Given the description of an element on the screen output the (x, y) to click on. 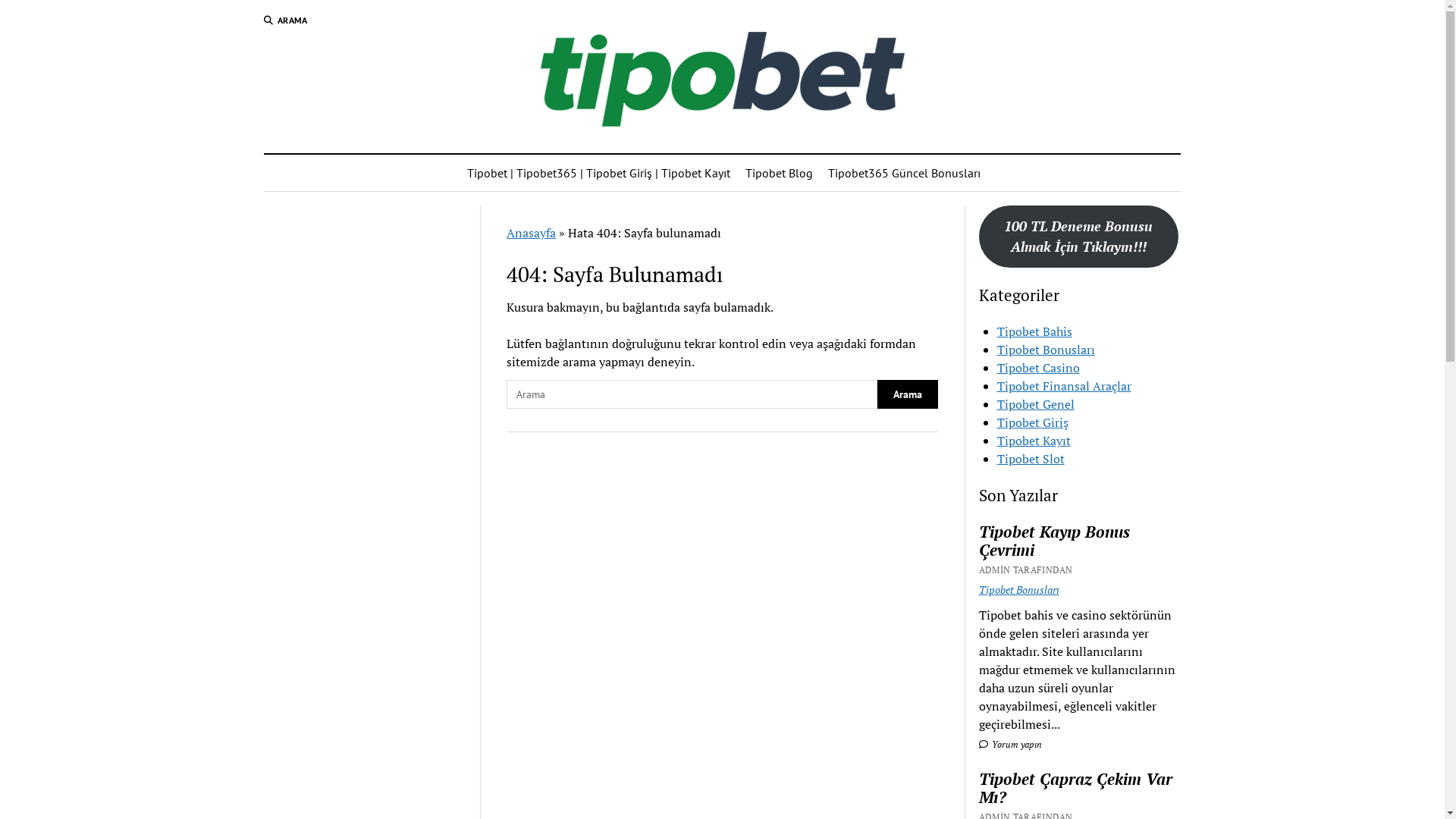
Arama Element type: text (947, 129)
ARAMA Element type: text (285, 20)
Arama Element type: text (907, 393)
Tipobet Bahis Element type: text (1034, 331)
Anasayfa Element type: text (530, 232)
Tipobet Casino Element type: text (1038, 367)
Tipobet Genel Element type: text (1035, 403)
Tipobet Slot Element type: text (1030, 458)
Arama Element type: hover (691, 393)
Tipobet Blog Element type: text (779, 172)
yorum ikonu Element type: hover (983, 744)
